Given the description of an element on the screen output the (x, y) to click on. 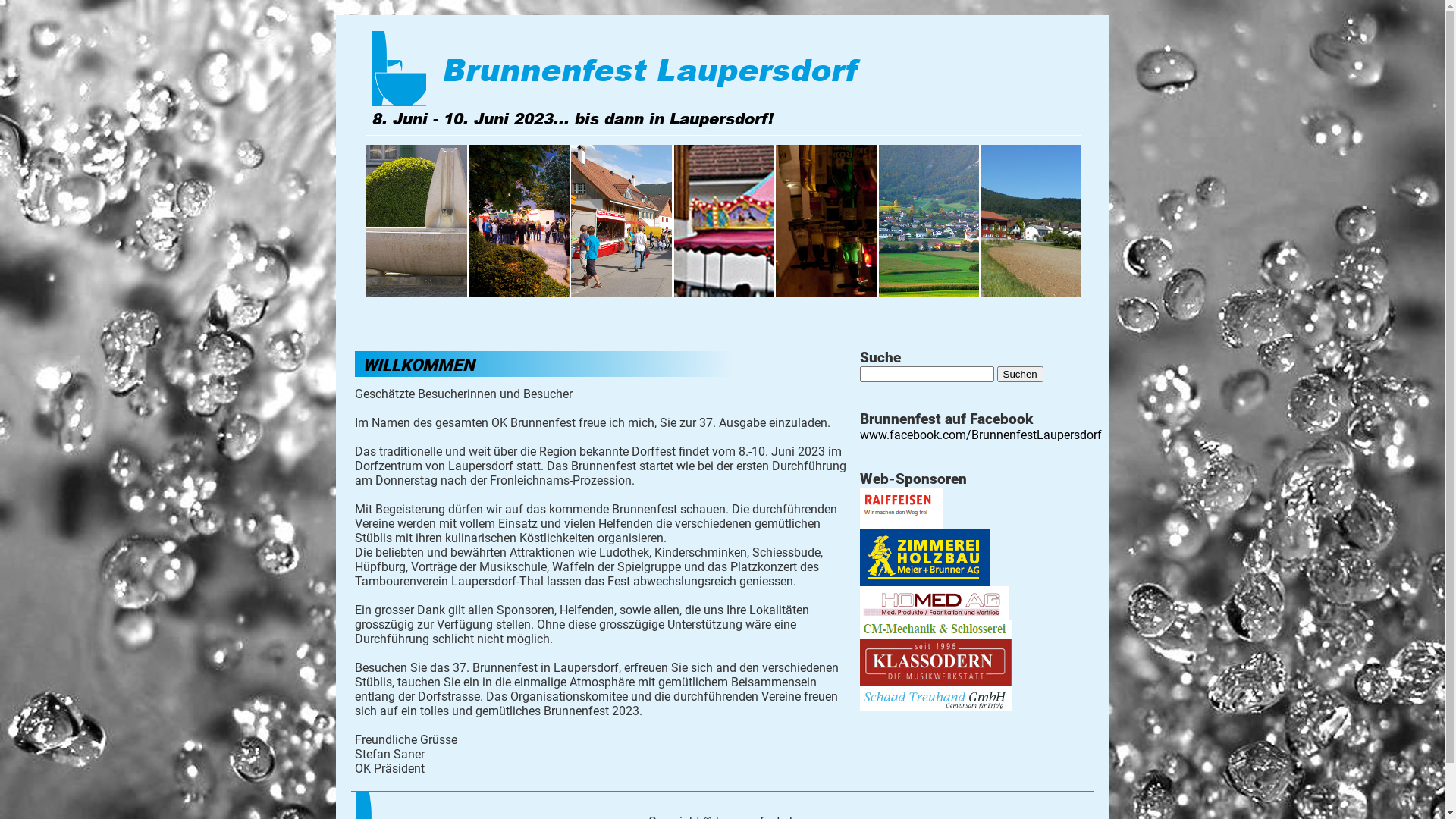
slidingdoor Element type: text (724, 220)
slidingdoor Element type: text (929, 220)
slidingdoor Element type: text (416, 220)
slidingdoor Element type: text (621, 220)
slidingdoor Element type: text (826, 220)
slidingdoor Element type: text (1029, 220)
Suchen Element type: text (1019, 374)
www.facebook.com/BrunnenfestLaupersdorf Element type: text (980, 434)
WILLKOMMEN Element type: text (418, 364)
slidingdoor Element type: text (519, 220)
